Given the description of an element on the screen output the (x, y) to click on. 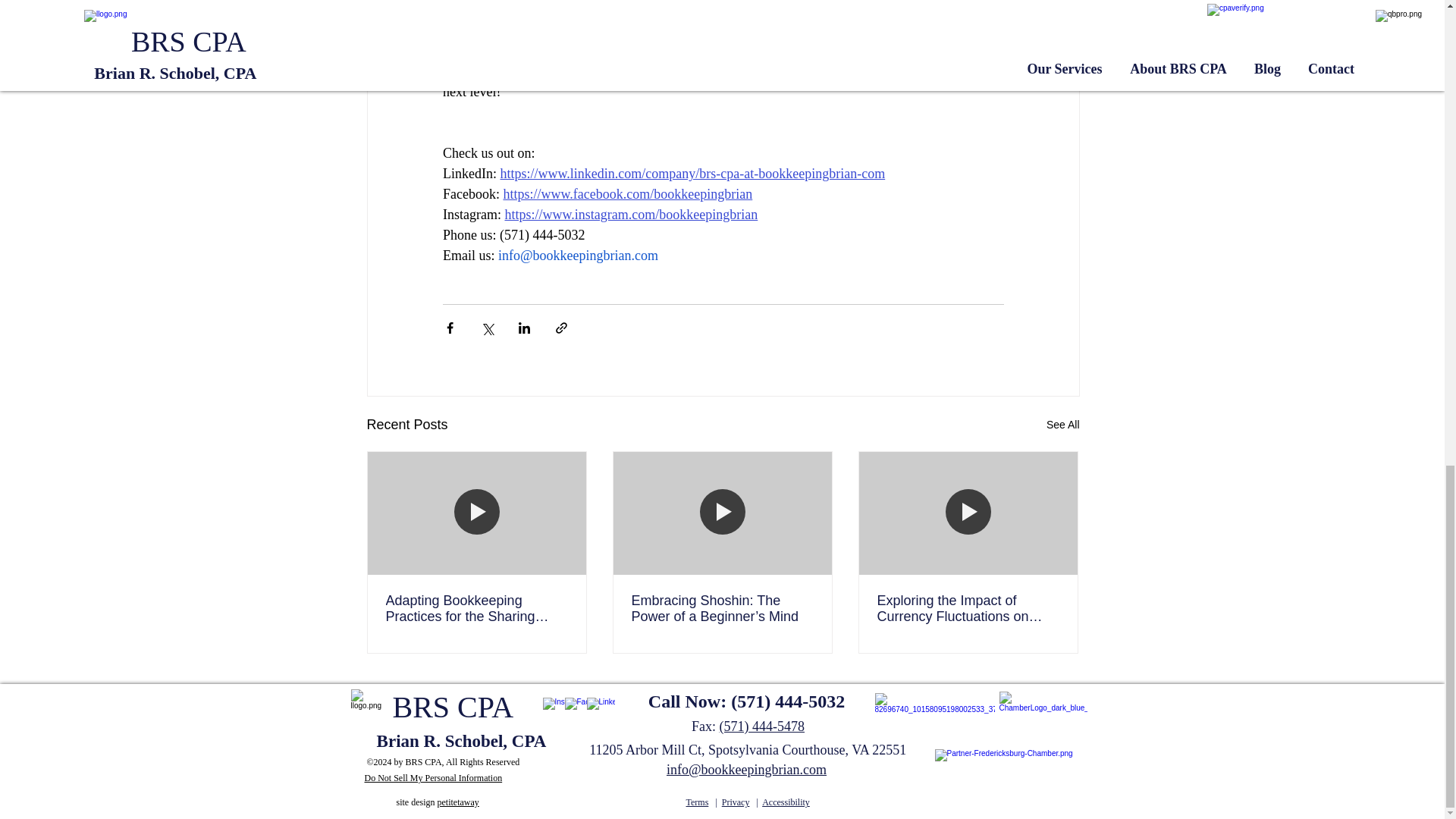
Adapting Bookkeeping Practices for the Sharing Economy (476, 608)
Do Not Sell My Personal Information (433, 778)
See All (1063, 424)
Privacy (735, 801)
Accessibility (785, 801)
Terms (696, 801)
petitetaway (457, 801)
